Given the description of an element on the screen output the (x, y) to click on. 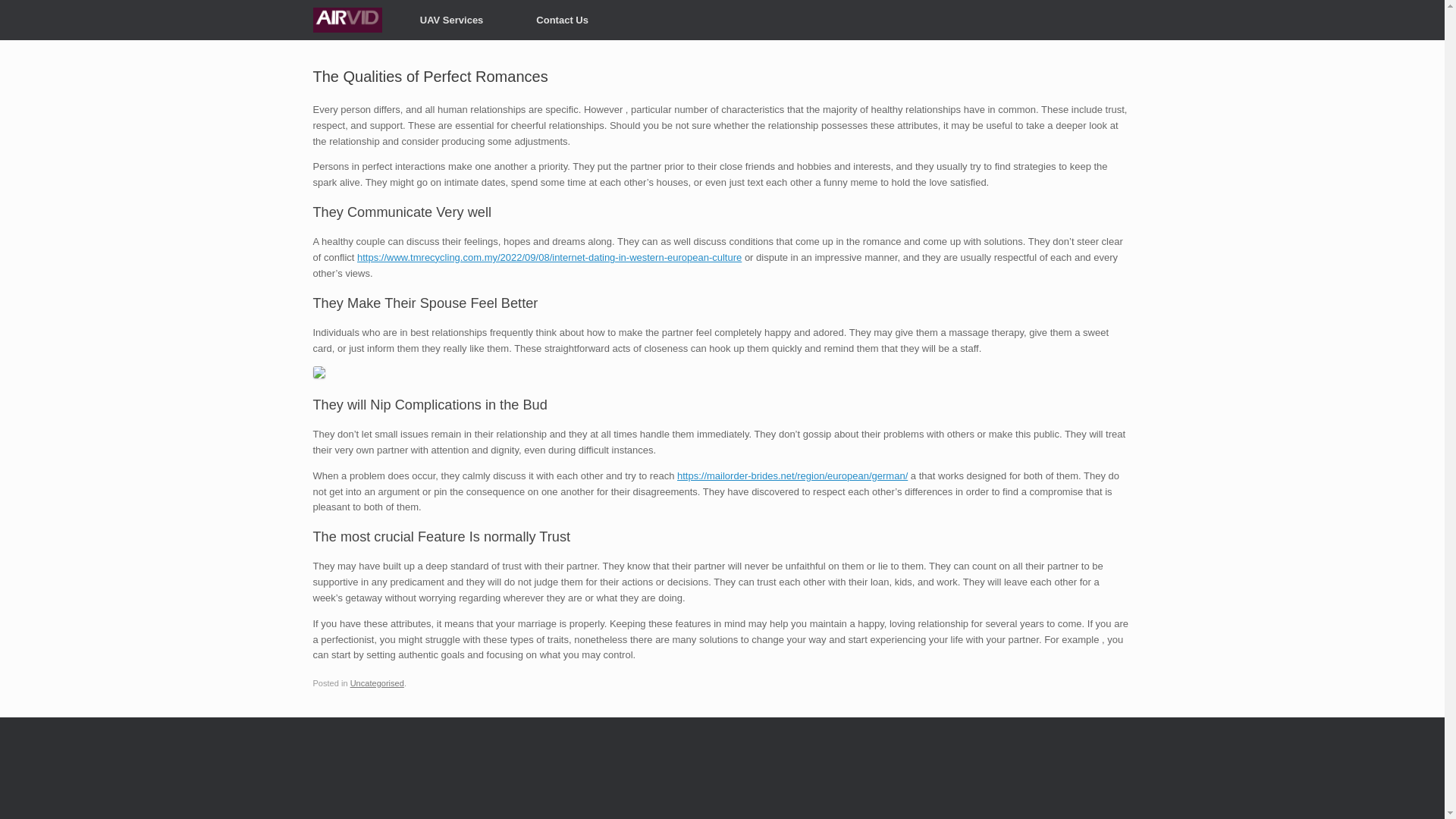
Uncategorised (377, 682)
AIRVID (347, 20)
Contact Us (561, 20)
UAV Services (452, 20)
